Given the description of an element on the screen output the (x, y) to click on. 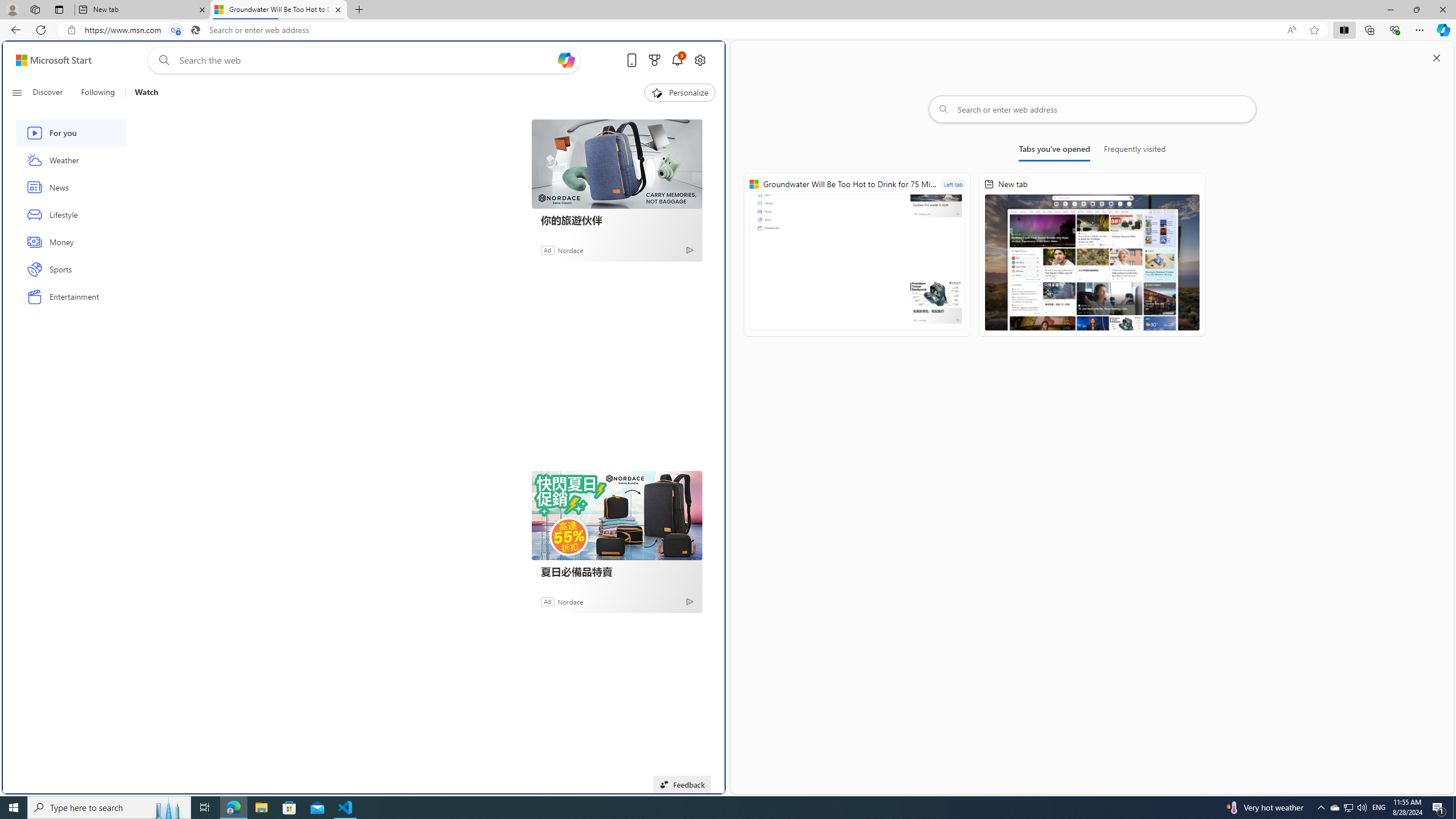
Workspaces (34, 9)
Split screen (1344, 29)
Class: button-glyph (16, 92)
Read aloud this page (Ctrl+Shift+U) (1291, 29)
Restore (1416, 9)
Copilot (Ctrl+Shift+.) (1442, 29)
Close split screen (1436, 57)
Following (98, 92)
Enter your search term (366, 59)
Settings and more (Alt+F) (1419, 29)
To get missing image descriptions, open the context menu. (656, 92)
